Given the description of an element on the screen output the (x, y) to click on. 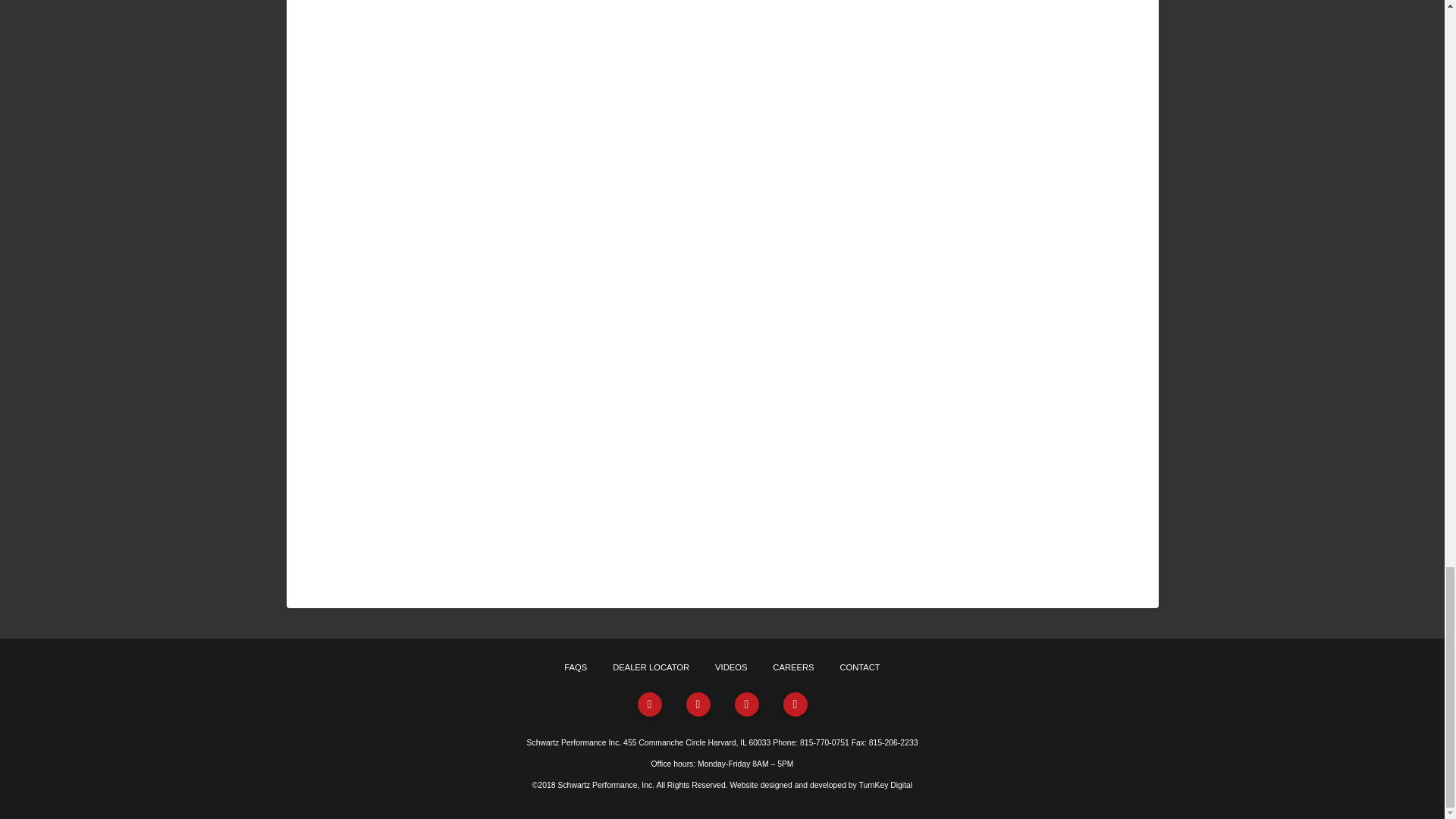
FAQS (575, 667)
DEALER LOCATOR (650, 667)
CONTACT (859, 667)
VIDEOS (730, 667)
TurnKey Digital (885, 785)
CAREERS (793, 667)
